Given the description of an element on the screen output the (x, y) to click on. 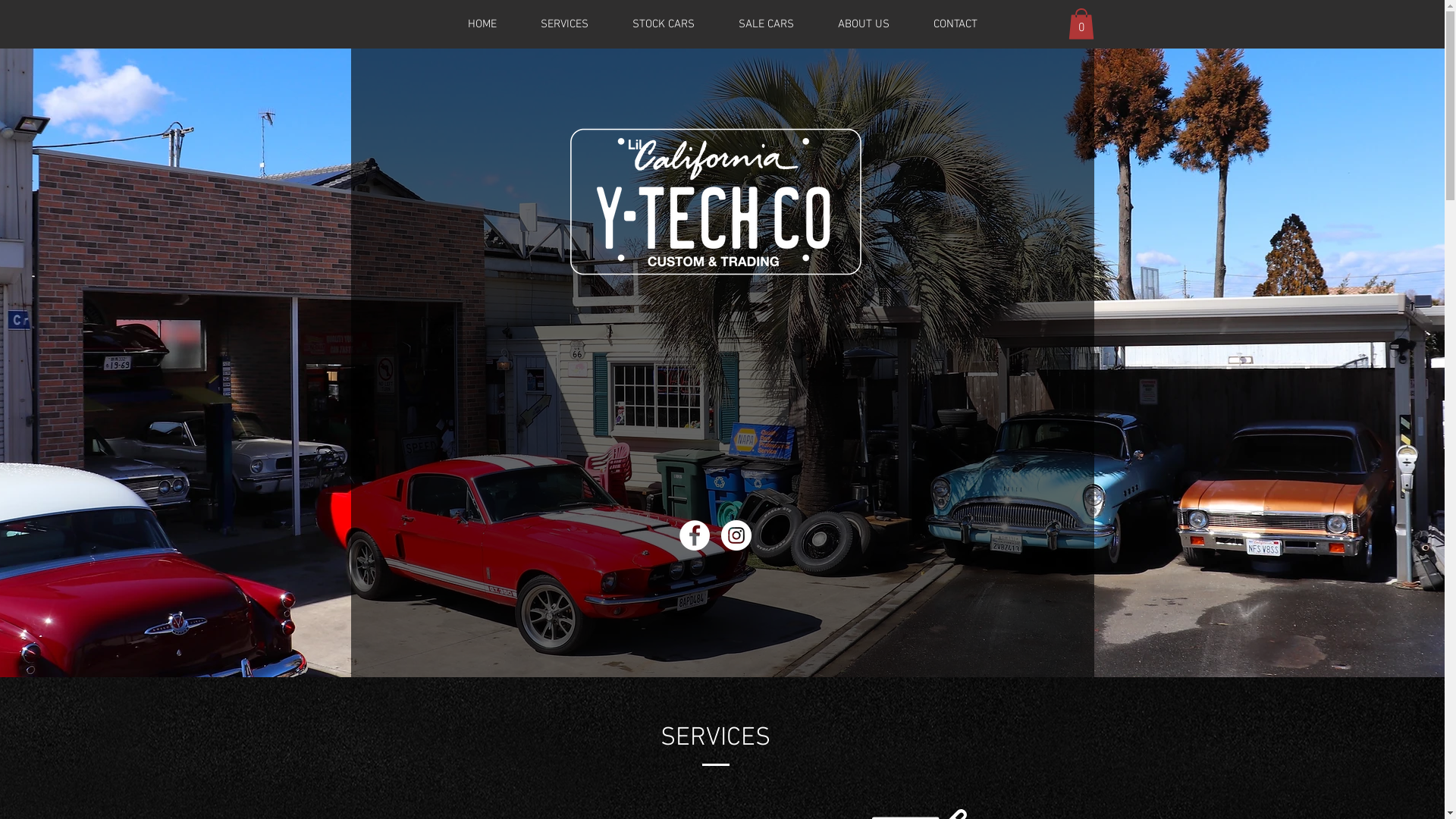
0 Element type: text (1080, 23)
STOCK CARS Element type: text (662, 24)
ABOUT US Element type: text (863, 24)
HOME Element type: text (481, 24)
CONTACT Element type: text (955, 24)
SERVICES Element type: text (564, 24)
SALE CARS Element type: text (765, 24)
